Given the description of an element on the screen output the (x, y) to click on. 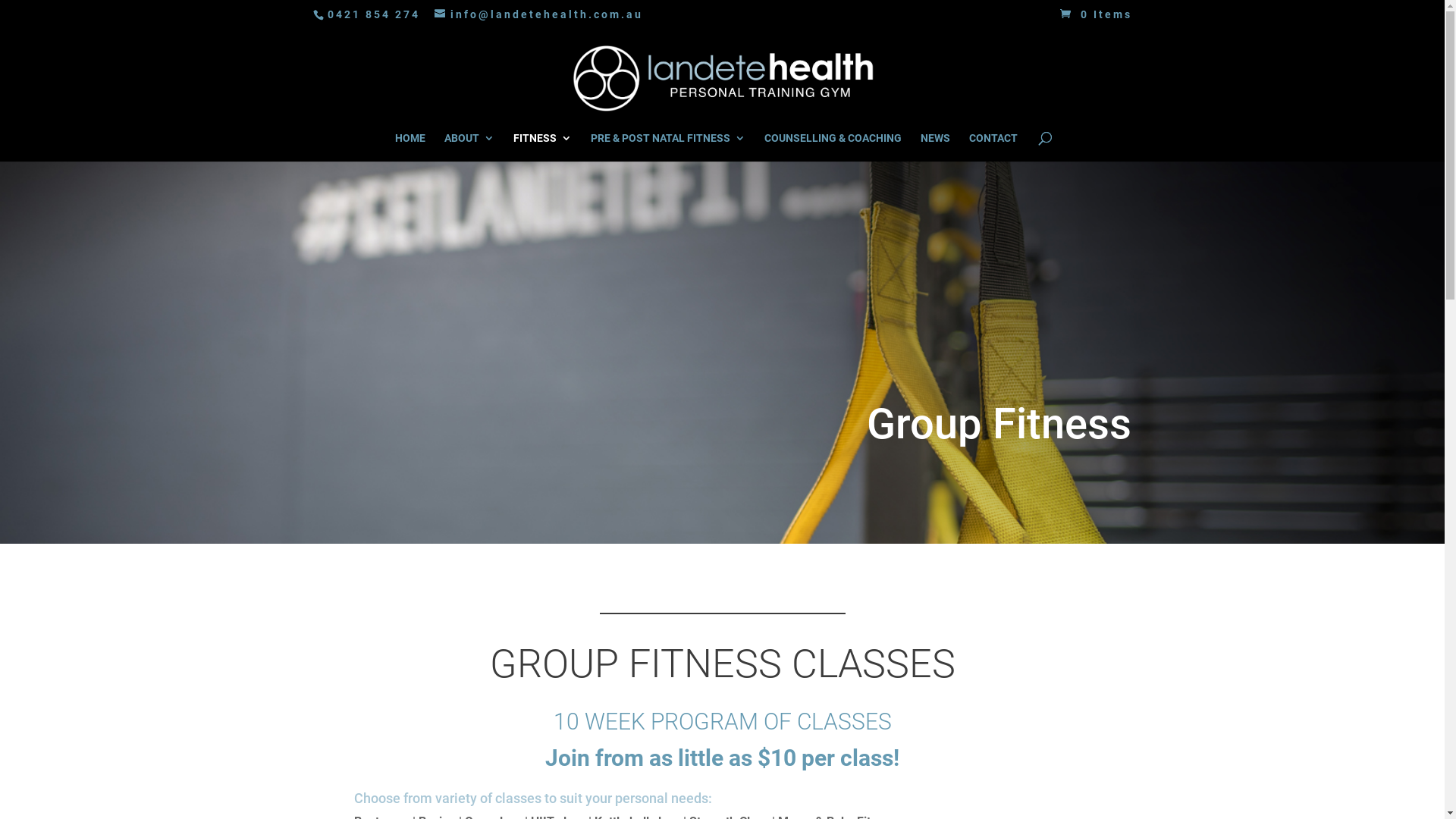
CONTACT Element type: text (993, 146)
NEWS Element type: text (935, 146)
FITNESS Element type: text (541, 146)
HOME Element type: text (409, 146)
PRE & POST NATAL FITNESS Element type: text (666, 146)
0 Items Element type: text (1093, 13)
info@landetehealth.com.au Element type: text (537, 13)
ABOUT Element type: text (469, 146)
COUNSELLING & COACHING Element type: text (832, 146)
